Given the description of an element on the screen output the (x, y) to click on. 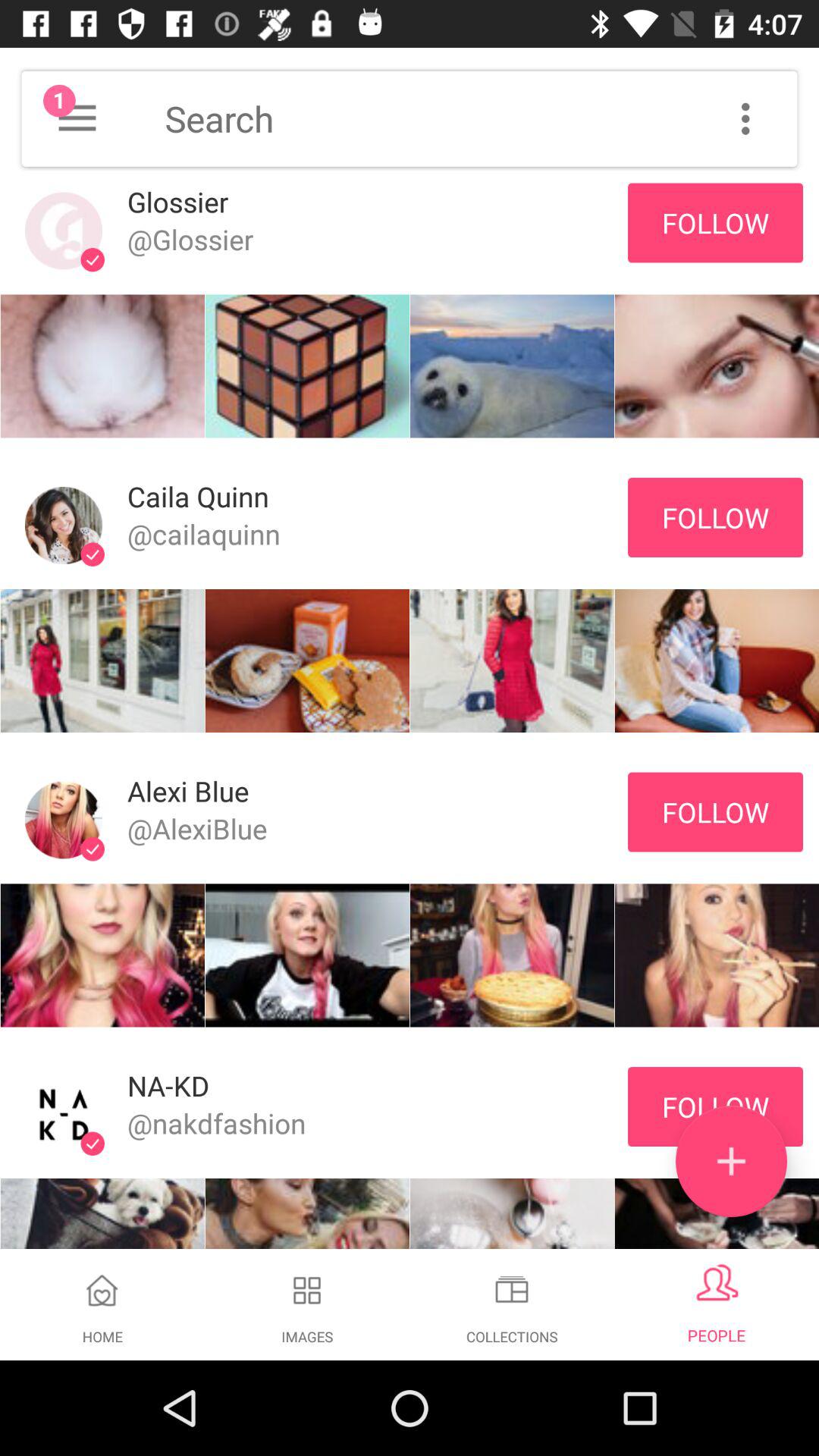
menu bar (745, 118)
